Given the description of an element on the screen output the (x, y) to click on. 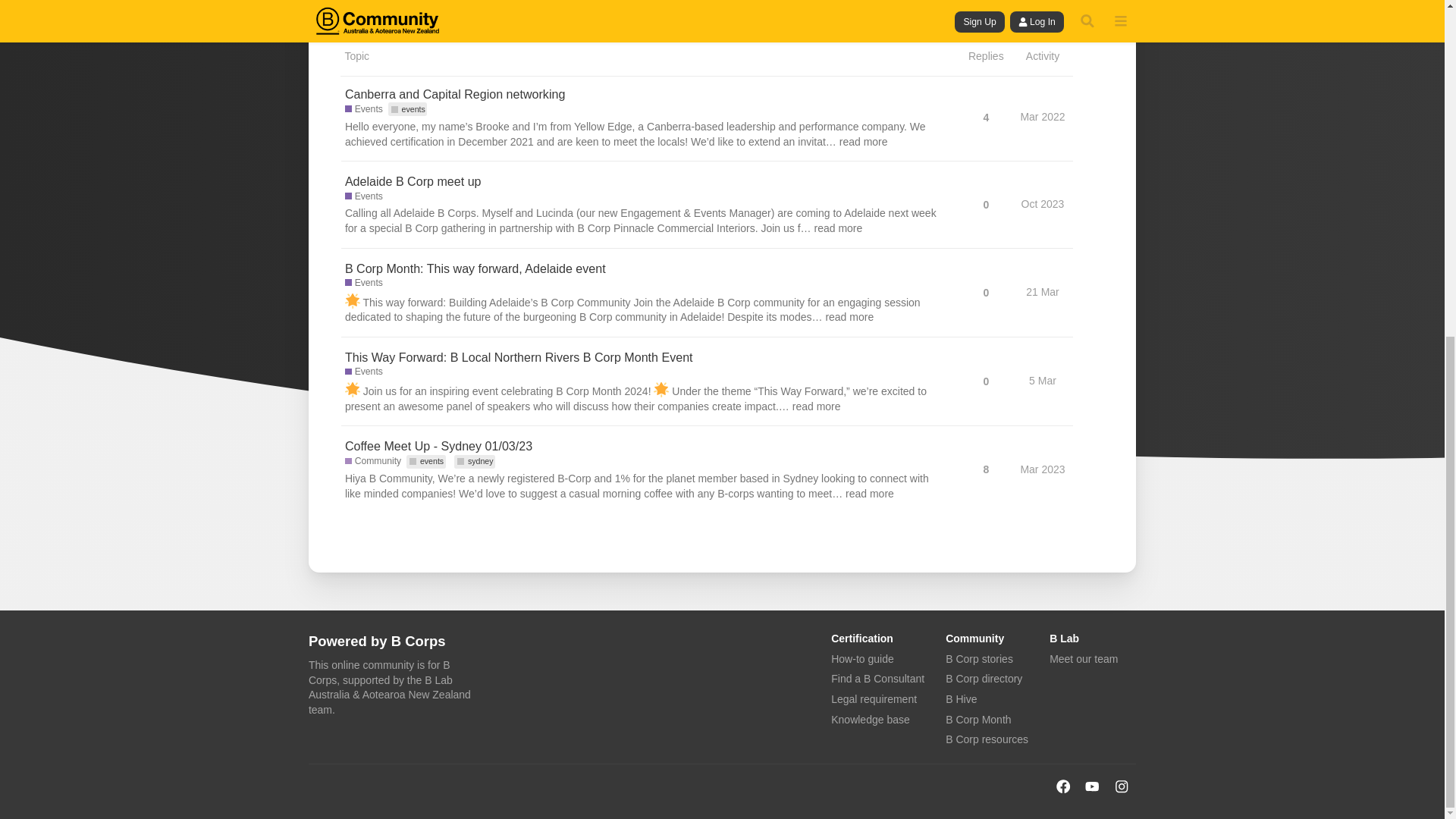
Add or find an event near you. (363, 109)
Add or find an event near you. (363, 196)
Events (363, 282)
Mar 2022 (1042, 116)
Canberra and Capital Region networking (454, 94)
Events (363, 196)
Events (363, 109)
This Way Forward: B Local Northern Rivers B Corp Month Event (519, 357)
Events (363, 371)
Adelaide B Corp meet up (413, 180)
star2 (352, 300)
B Corp Month: This way forward, Adelaide event (475, 268)
events (408, 109)
Oct 2023 (1042, 203)
21 Mar (1042, 291)
